Given the description of an element on the screen output the (x, y) to click on. 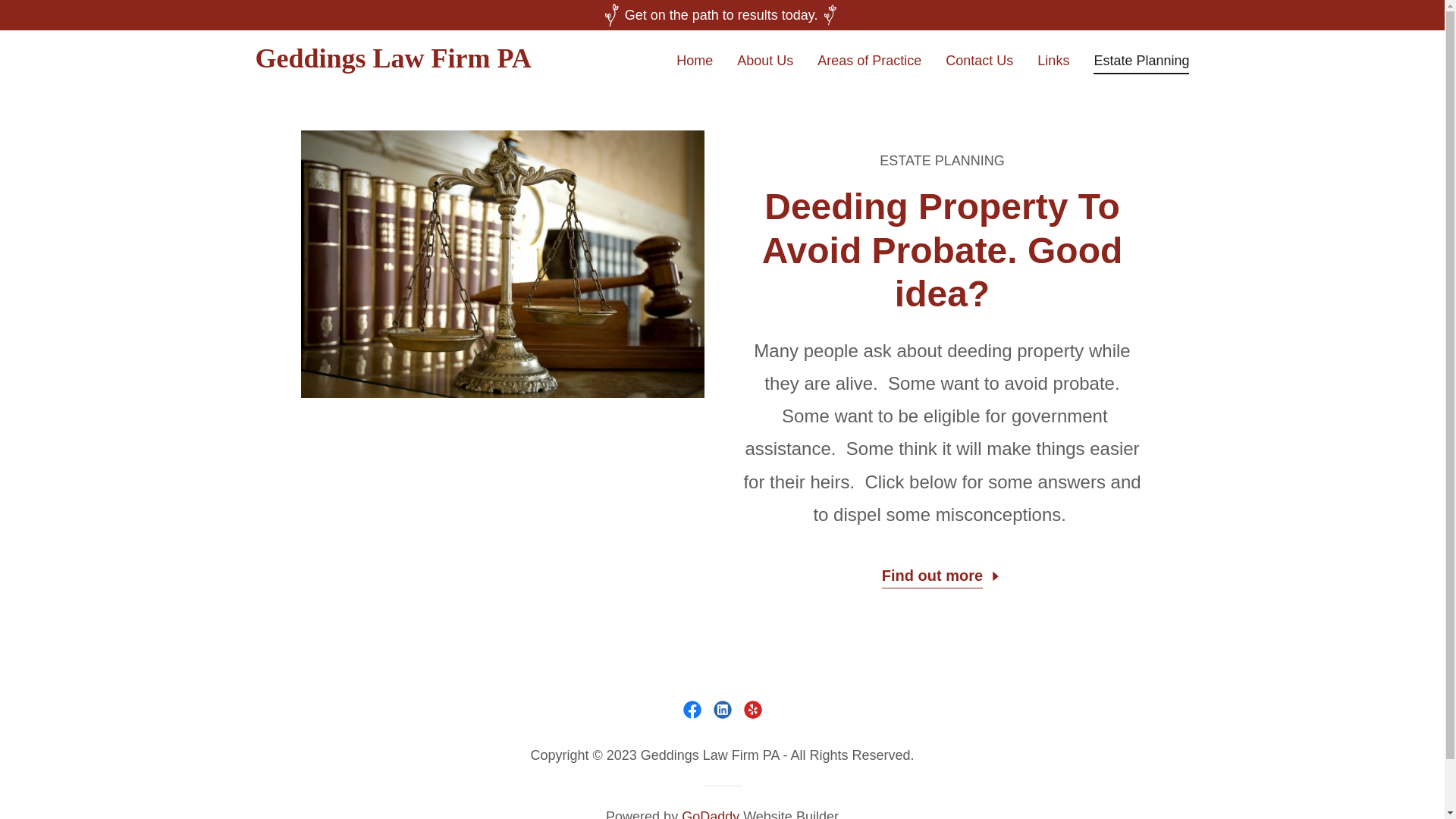
Contact Us (978, 59)
Home (694, 59)
Estate Planning (1141, 62)
Find out more (942, 572)
Links (1053, 59)
GoDaddy (710, 814)
About Us (764, 59)
Geddings Law Firm PA (417, 62)
Geddings Law Firm PA (417, 62)
Areas of Practice (869, 59)
